Given the description of an element on the screen output the (x, y) to click on. 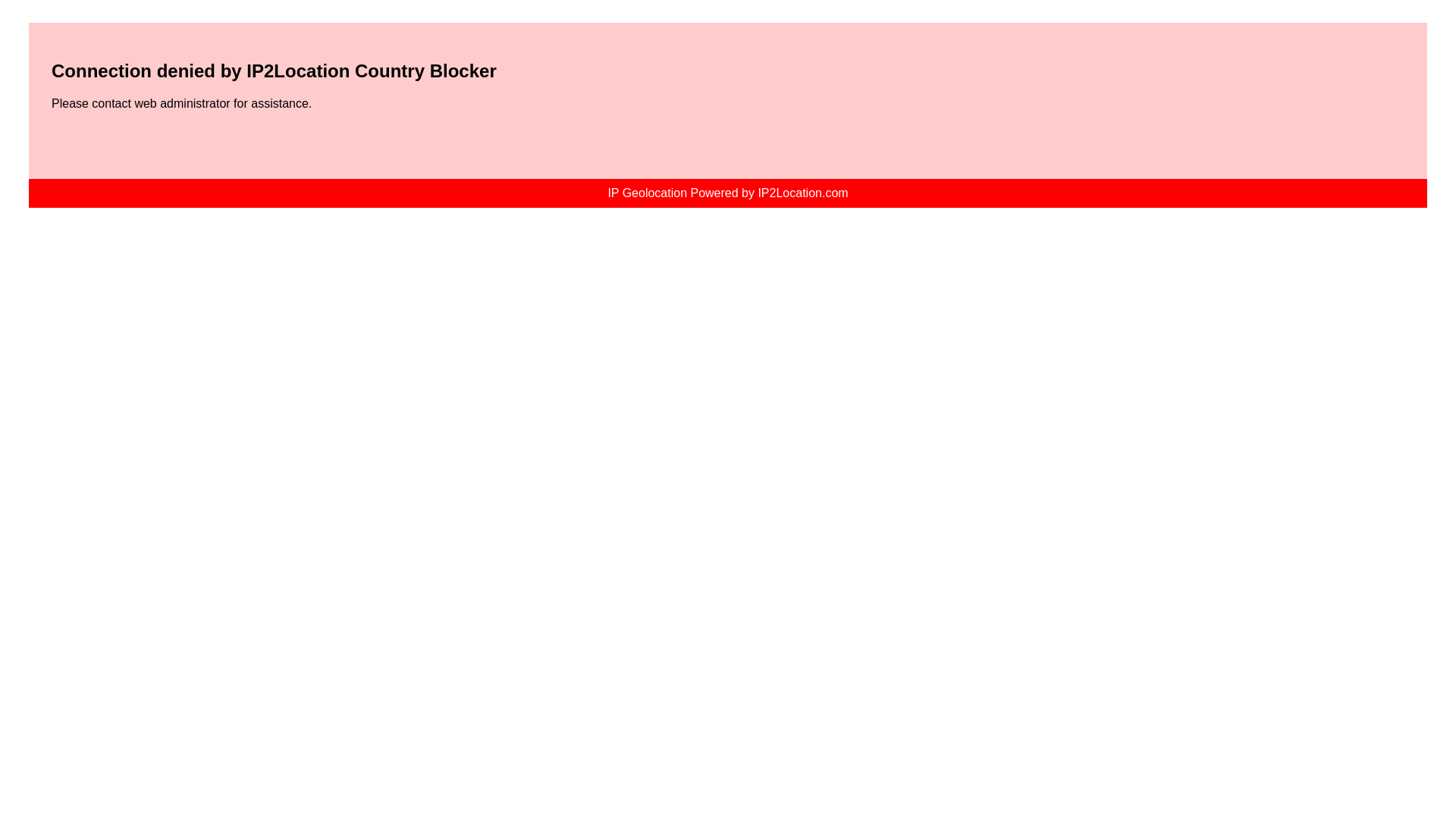
IP Geolocation Powered by IP2Location.com (727, 192)
